Given the description of an element on the screen output the (x, y) to click on. 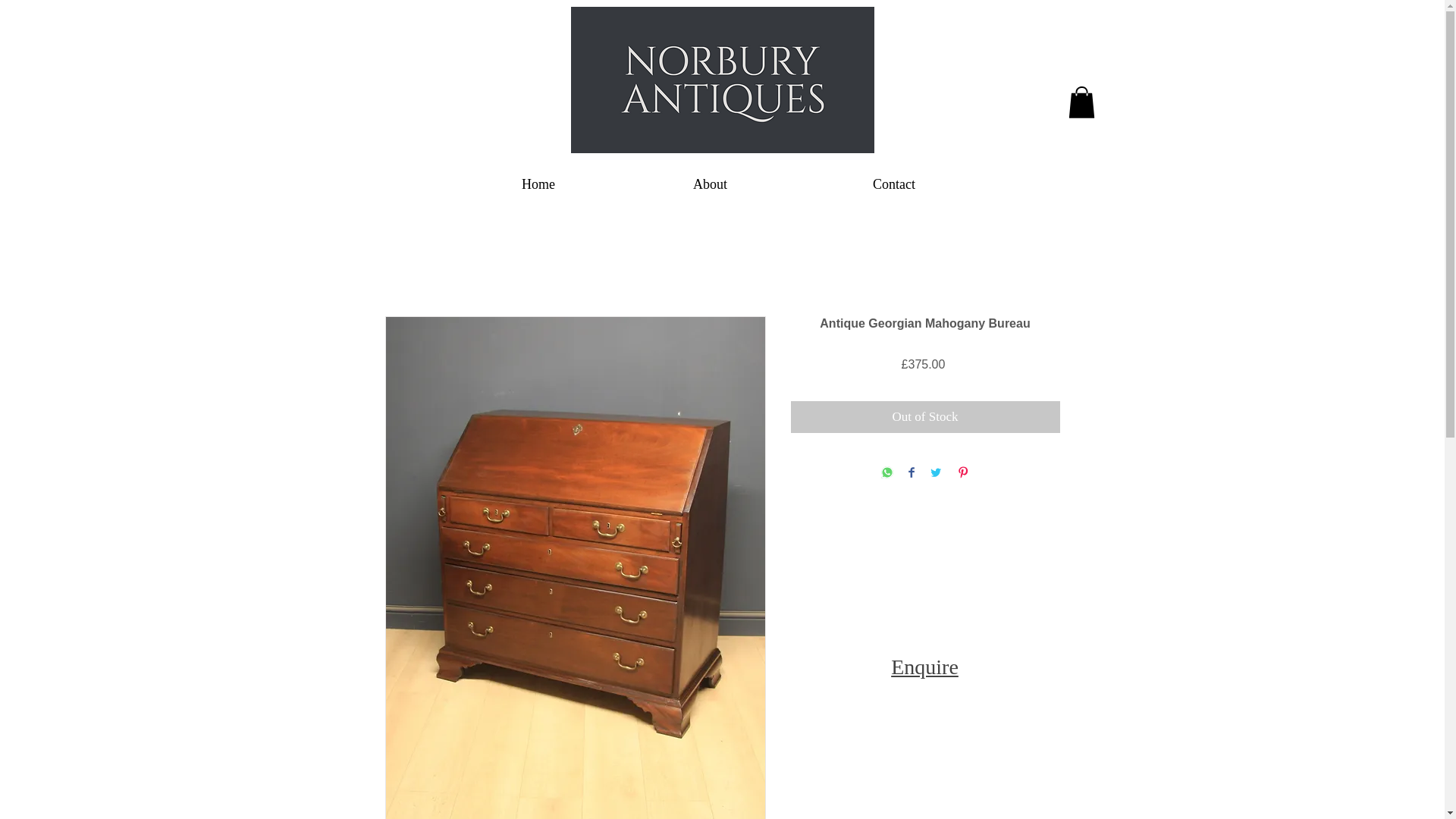
About (710, 184)
Enquire (924, 666)
Contact (894, 184)
Out of Stock (924, 417)
Home (537, 184)
